Given the description of an element on the screen output the (x, y) to click on. 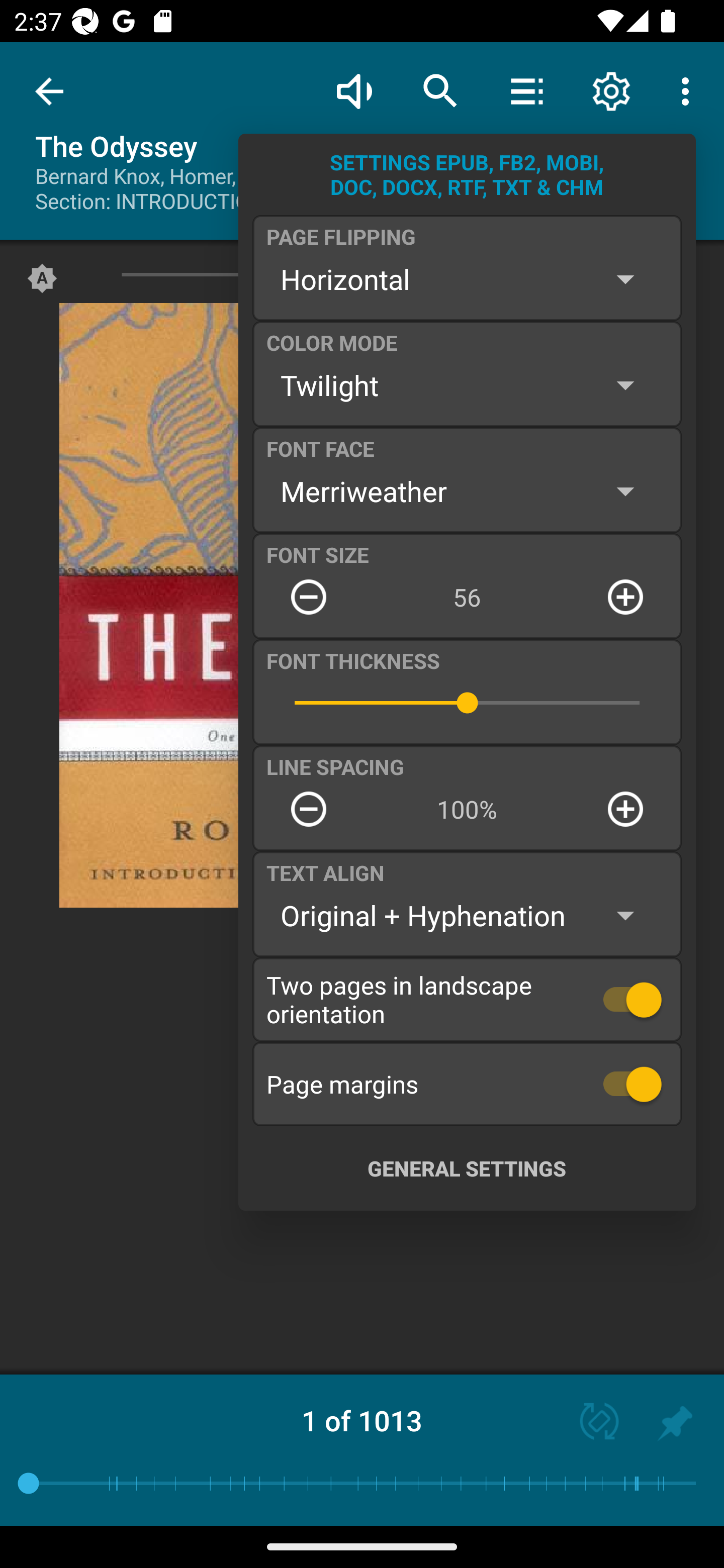
Horizontal (466, 278)
Twilight (466, 384)
Merriweather (466, 490)
Original + Hyphenation (466, 915)
Two pages in landscape orientation (467, 999)
Page margins (467, 1083)
GENERAL SETTINGS (466, 1167)
